Given the description of an element on the screen output the (x, y) to click on. 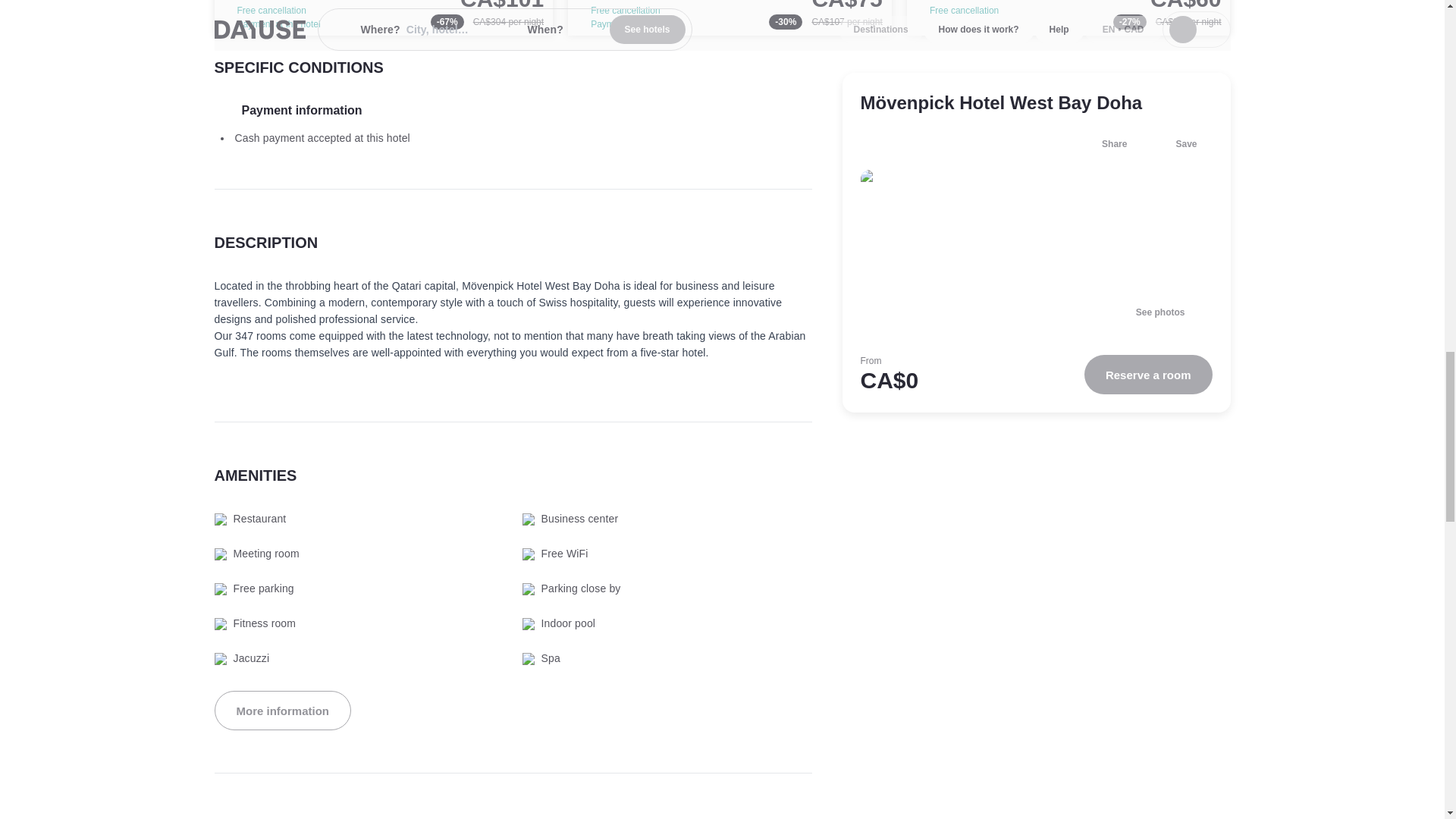
Millennium Hotel Doha (729, 18)
Alwadi Hotel Doha - MGallery (383, 18)
Millennium Central Doha (1068, 18)
